Given the description of an element on the screen output the (x, y) to click on. 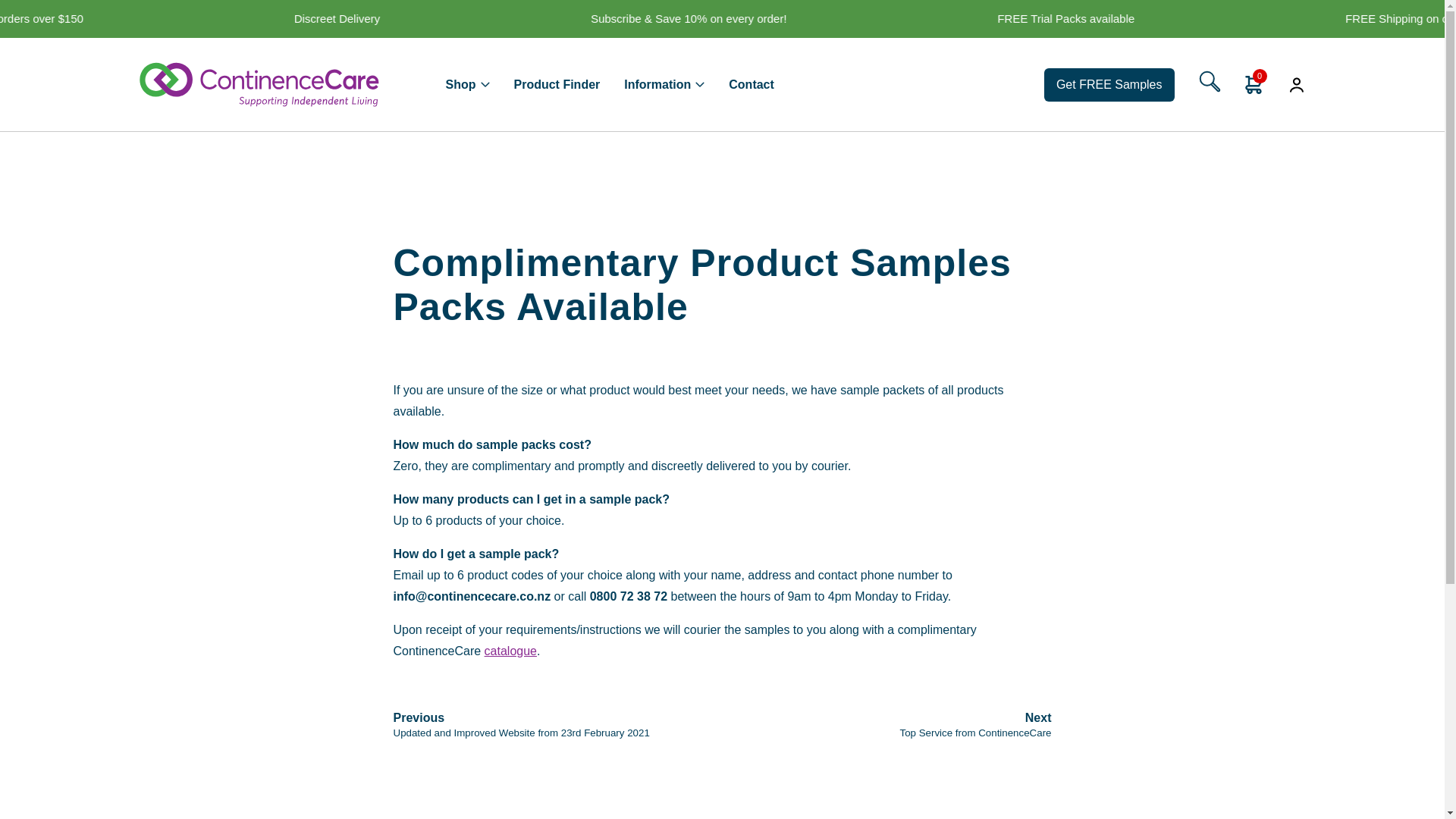
0 (1253, 85)
Search (1110, 37)
catalogue (510, 650)
Get FREE Samples (1108, 84)
Your Incontinence Product Specialists (258, 84)
Product Finder (557, 84)
Information (663, 84)
